Given the description of an element on the screen output the (x, y) to click on. 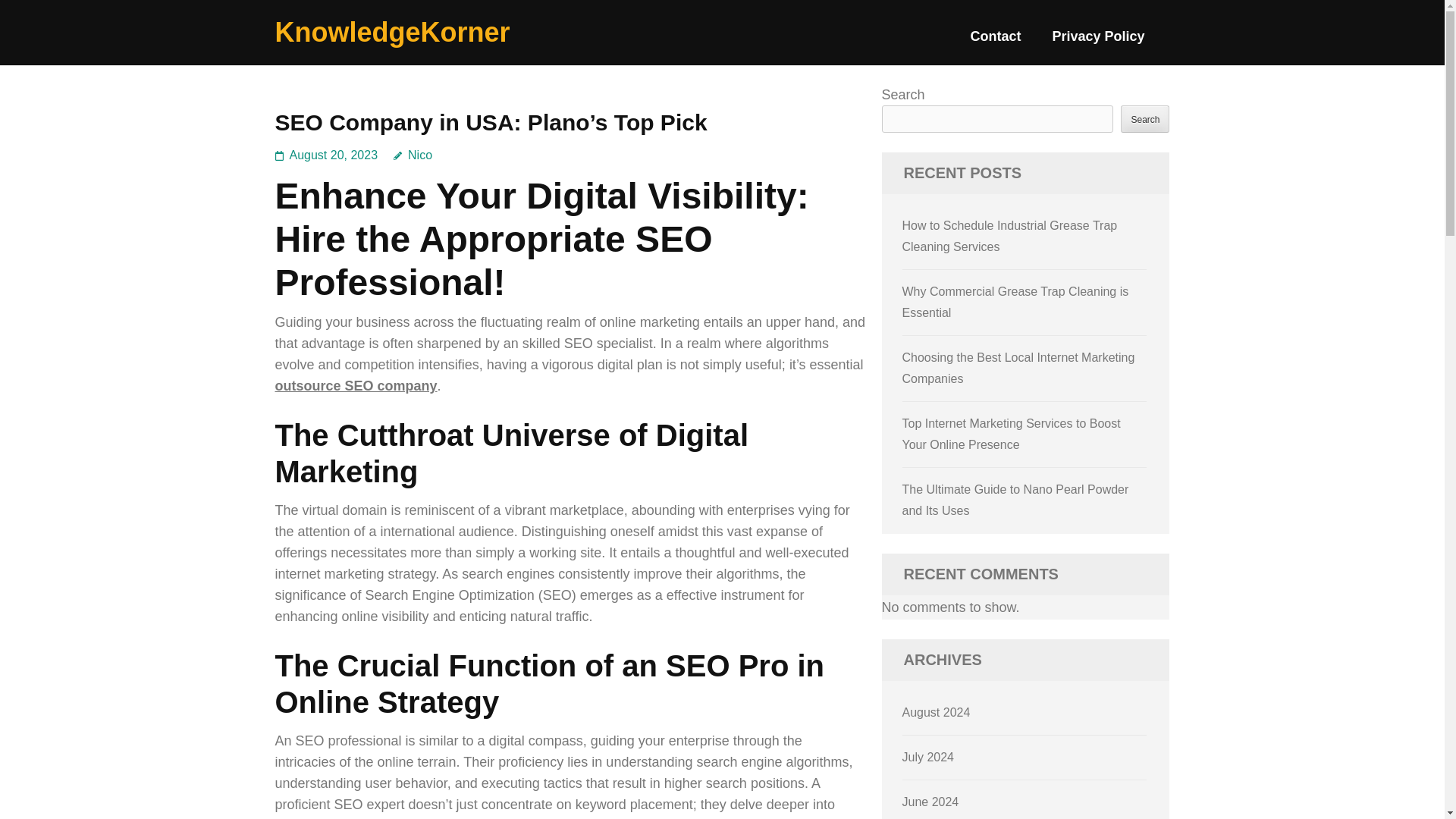
KnowledgeKorner (392, 31)
Nico (412, 154)
The Ultimate Guide to Nano Pearl Powder and Its Uses (1015, 499)
Choosing the Best Local Internet Marketing Companies (1018, 367)
July 2024 (928, 757)
June 2024 (930, 801)
Search (1145, 118)
August 20, 2023 (333, 154)
August 2024 (936, 712)
Why Commercial Grease Trap Cleaning is Essential (1015, 302)
Privacy Policy (1097, 42)
outsource SEO company (355, 385)
How to Schedule Industrial Grease Trap Cleaning Services (1010, 236)
Contact (994, 42)
